Given the description of an element on the screen output the (x, y) to click on. 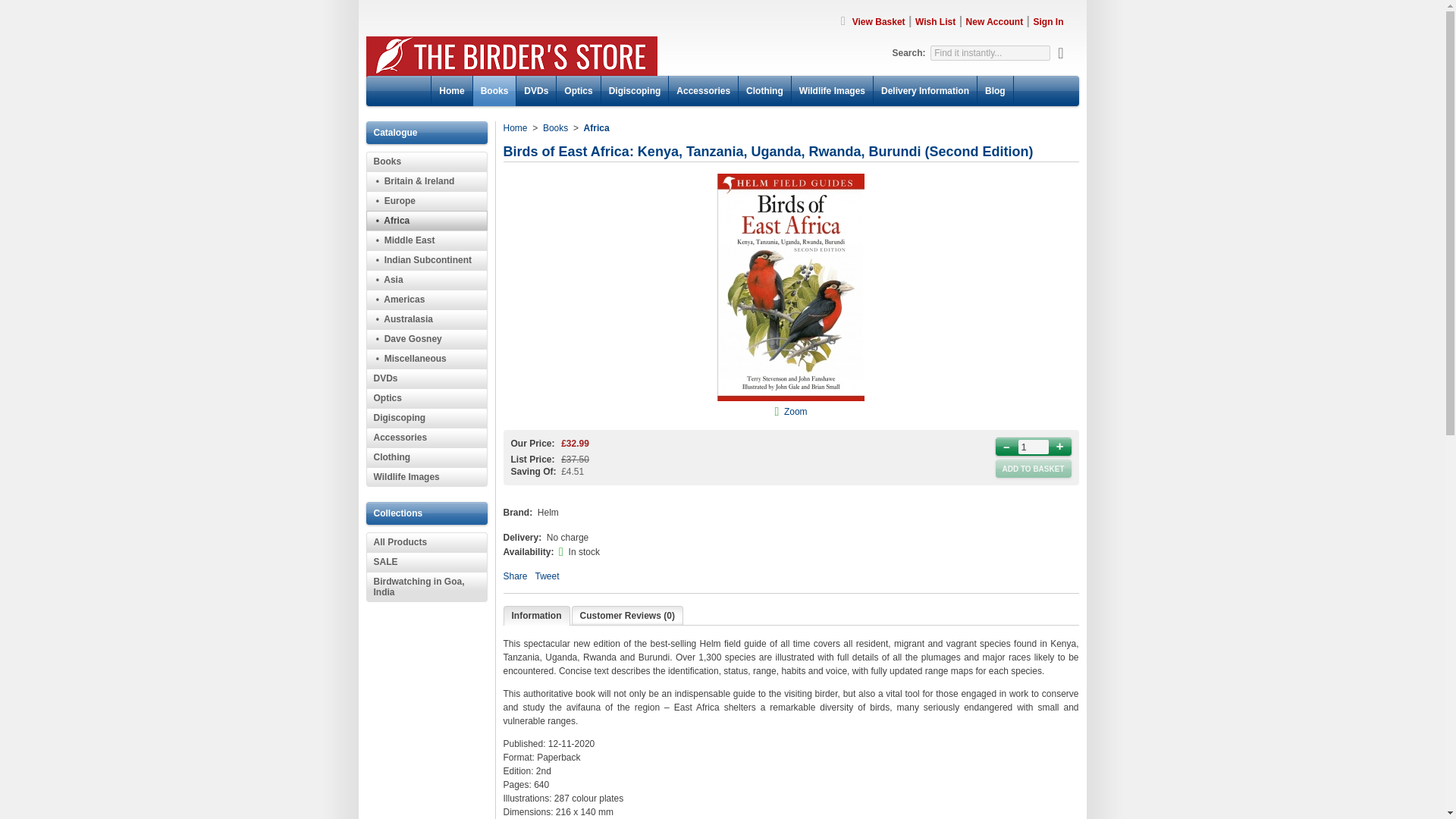
Books (425, 161)
Clothing (425, 456)
Optics (425, 397)
Africa (596, 127)
SALE (425, 561)
Zoom (796, 411)
Books (555, 127)
Digiscoping (425, 417)
Birdwatching in Goa, India (425, 586)
Tweet (547, 575)
